Given the description of an element on the screen output the (x, y) to click on. 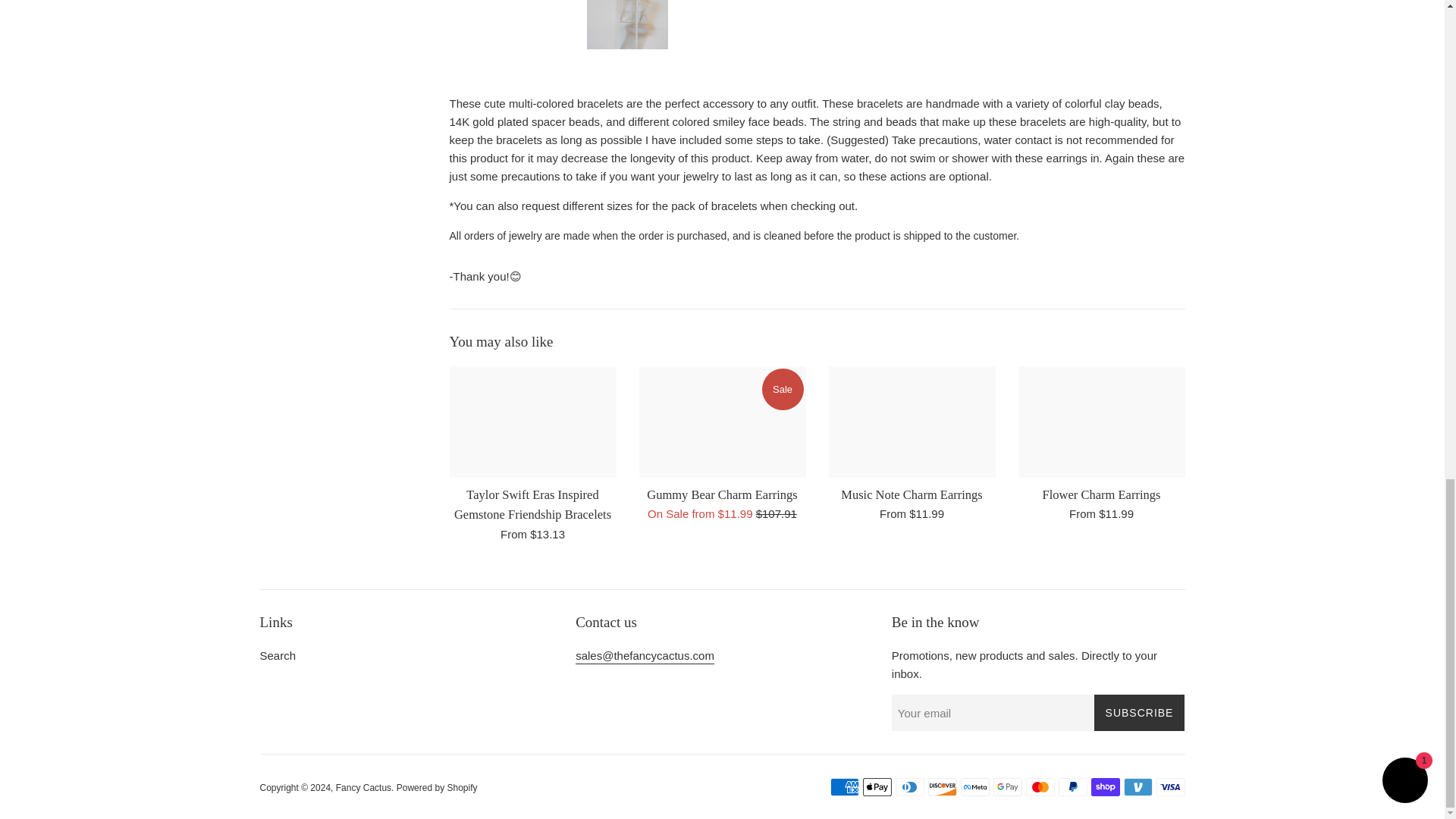
Taylor Swift Eras Inspired Gemstone Friendship Bracelets (531, 421)
Meta Pay (973, 787)
PayPal (1072, 787)
Diners Club (909, 787)
American Express (844, 787)
Music Note Charm Earrings (911, 421)
Taylor Swift Eras Inspired Gemstone Friendship Bracelets (532, 504)
Discover (942, 787)
Apple Pay (877, 787)
Visa (1170, 787)
Venmo (1138, 787)
Gummy Bear Charm Earrings (722, 421)
Shop Pay (1104, 787)
Flower Charm Earrings (1101, 421)
Mastercard (1039, 787)
